Given the description of an element on the screen output the (x, y) to click on. 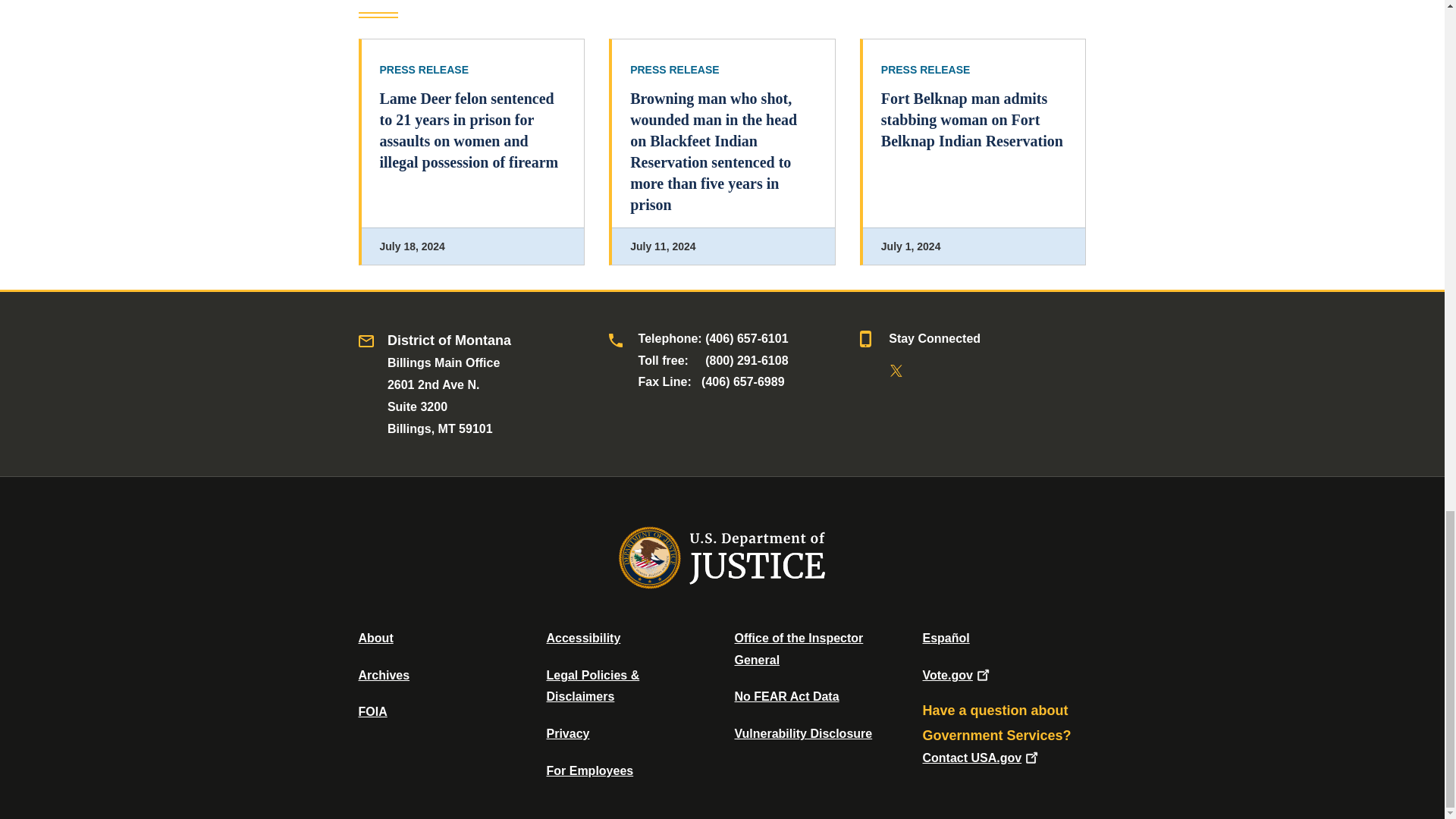
Data Posted Pursuant To The No Fear Act (785, 696)
Department of Justice Archive (383, 675)
Accessibility Statement (583, 637)
Legal Policies and Disclaimers (592, 686)
For Employees (589, 770)
About DOJ (375, 637)
Office of Information Policy (372, 711)
